Given the description of an element on the screen output the (x, y) to click on. 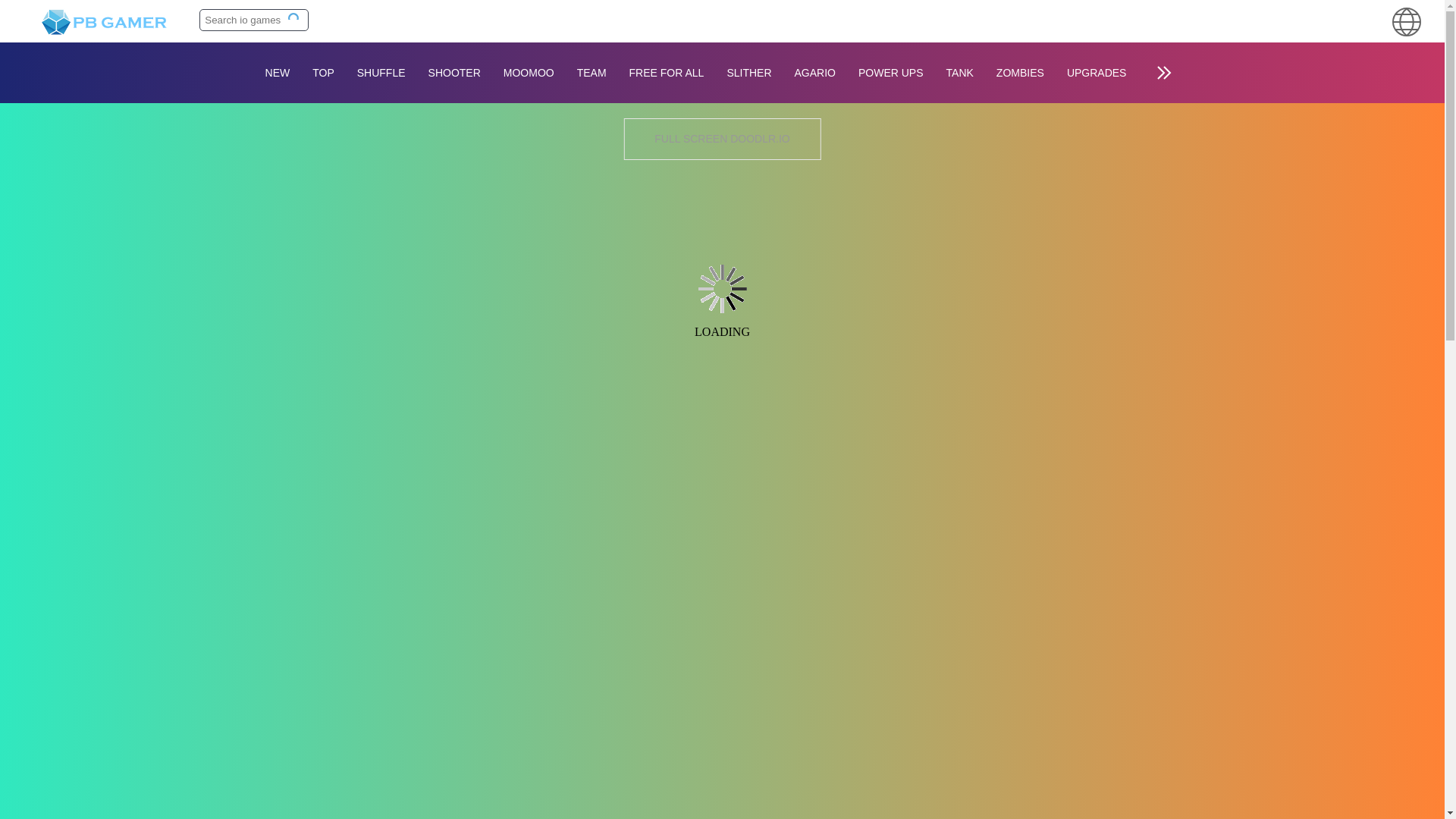
Search (294, 19)
ZOMBIES (1020, 72)
FREE FOR ALL (666, 72)
AGARIO (814, 72)
MOOMOO (529, 72)
SHOOTER (454, 72)
Search (294, 19)
POWER UPS (890, 72)
UPGRADES (1096, 72)
SHUFFLE (381, 72)
SLITHER (748, 72)
